Given the description of an element on the screen output the (x, y) to click on. 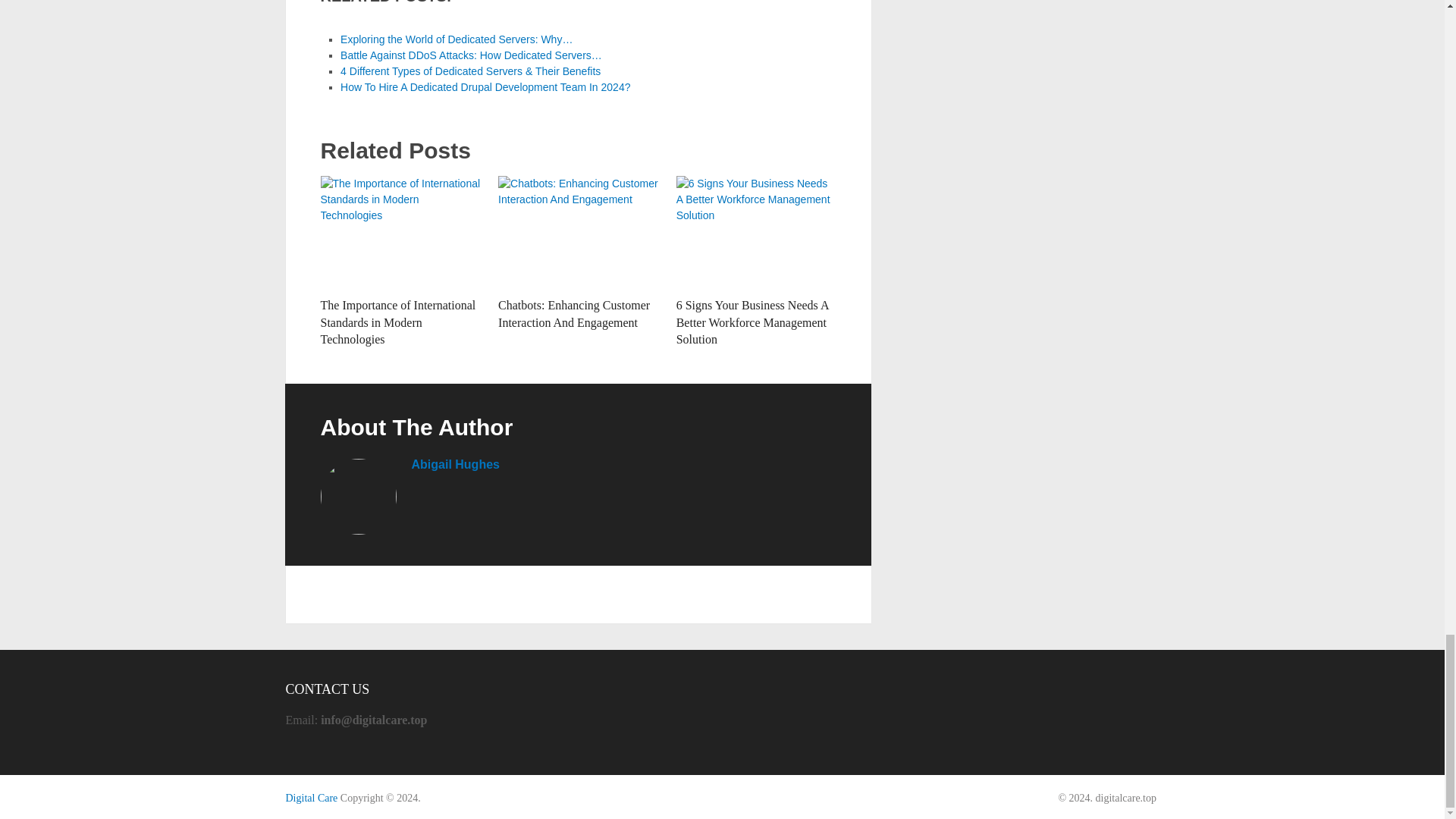
Chatbots: Enhancing Customer Interaction And Engagement (577, 232)
How To Hire A Dedicated Drupal Development Team In 2024? (485, 87)
Abigail Hughes (454, 463)
 Tech Help, News and Reviews 2024 (311, 797)
Chatbots: Enhancing Customer Interaction And Engagement (573, 313)
